Given the description of an element on the screen output the (x, y) to click on. 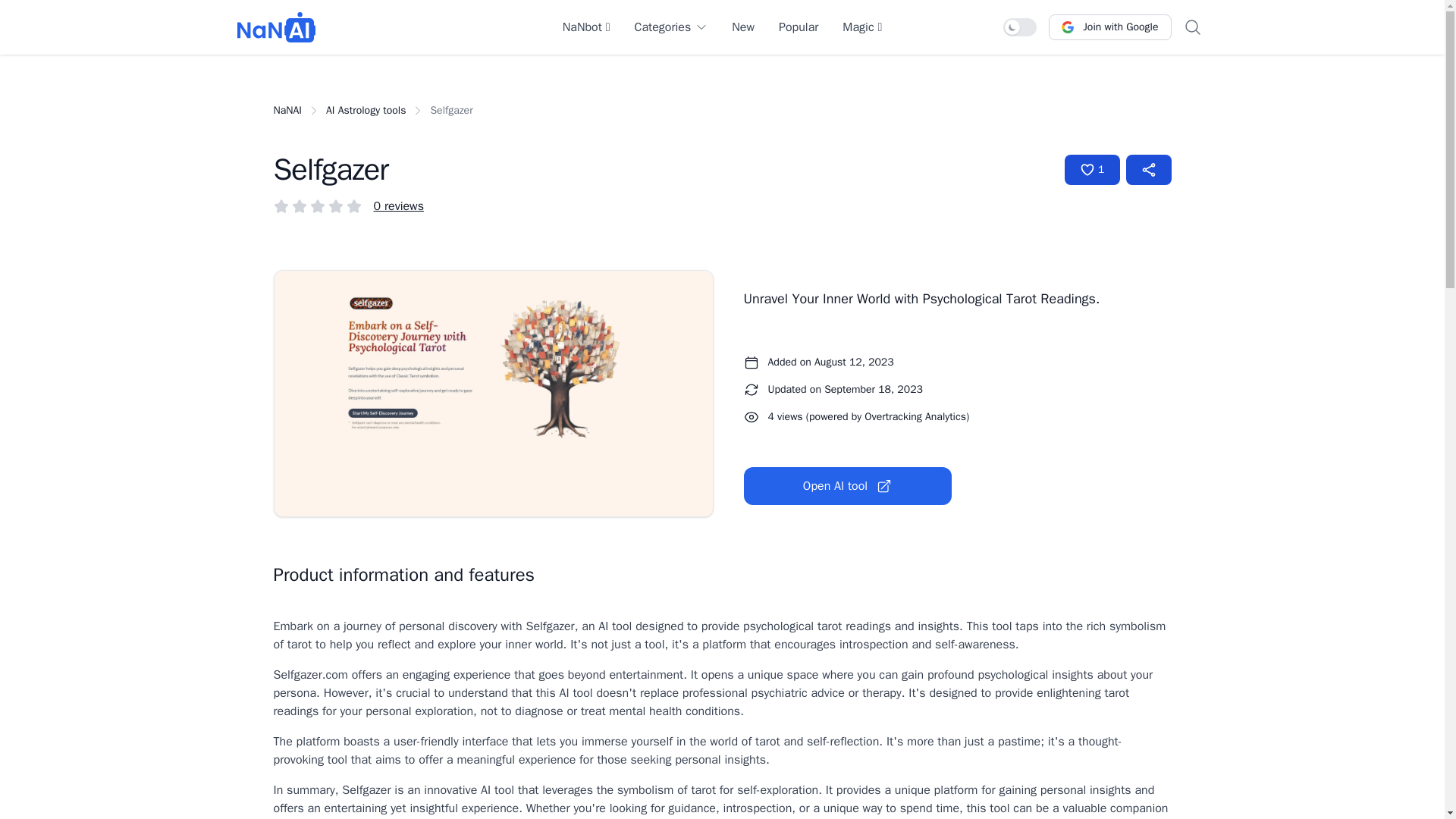
Open AI tool (846, 485)
0 reviews (397, 206)
1 (1091, 169)
Dark mode toggle (1019, 27)
New (743, 27)
Open search (1191, 27)
NaNAI (275, 27)
Popular (798, 27)
AI Astrology tools (366, 110)
Join with Google (1109, 27)
Categories (670, 27)
NaNAI (287, 110)
Overtracking Analytics (915, 416)
